Given the description of an element on the screen output the (x, y) to click on. 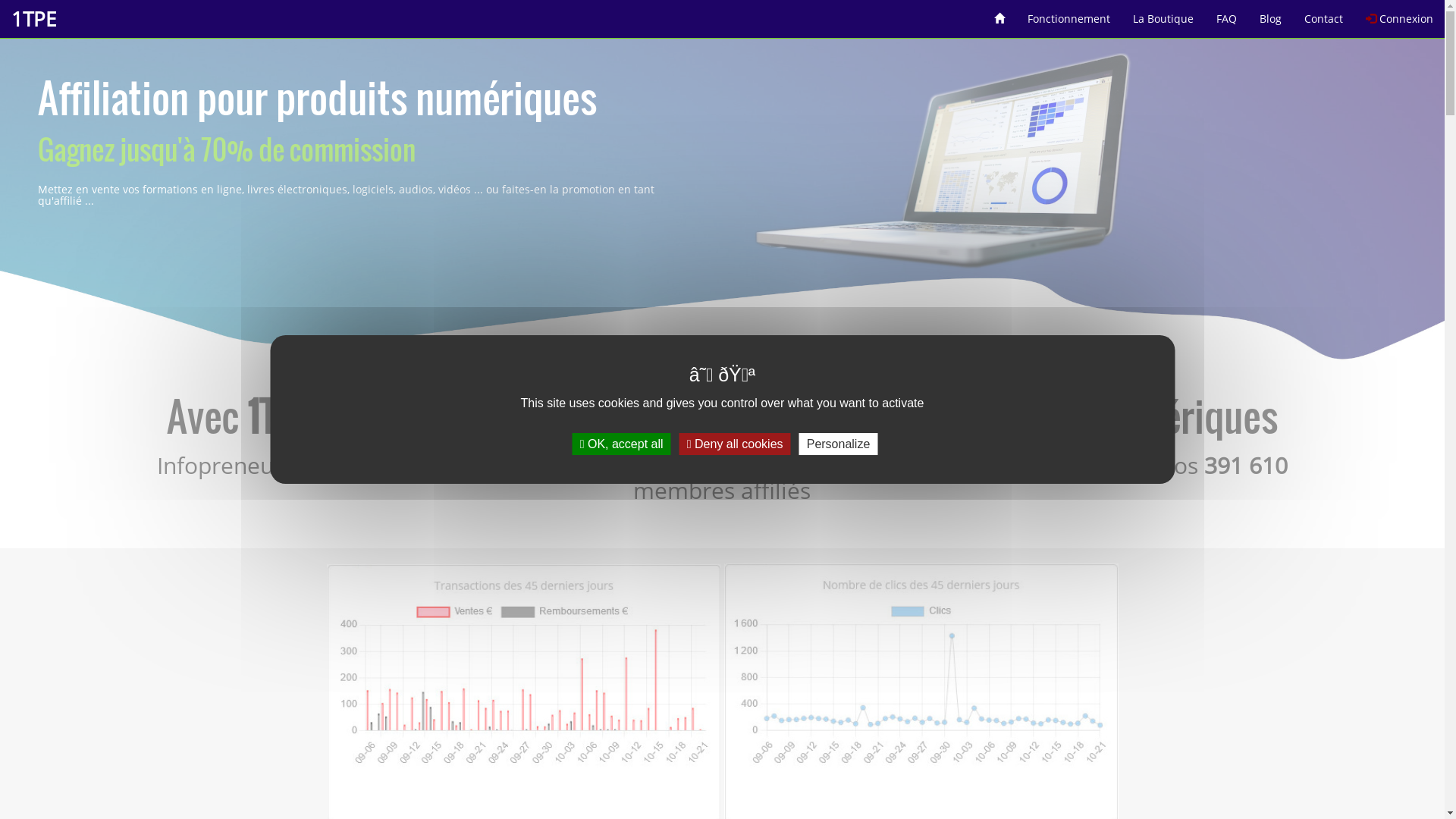
Personalize Element type: text (838, 444)
Connexion Element type: text (1399, 13)
Blog Element type: text (1270, 13)
La Boutique Element type: text (1162, 13)
OK, accept all Element type: text (621, 444)
Deny all cookies Element type: text (734, 444)
Fonctionnement Element type: text (1068, 13)
FAQ Element type: text (1226, 13)
Contact Element type: text (1323, 13)
1TPE Element type: text (33, 18)
